Given the description of an element on the screen output the (x, y) to click on. 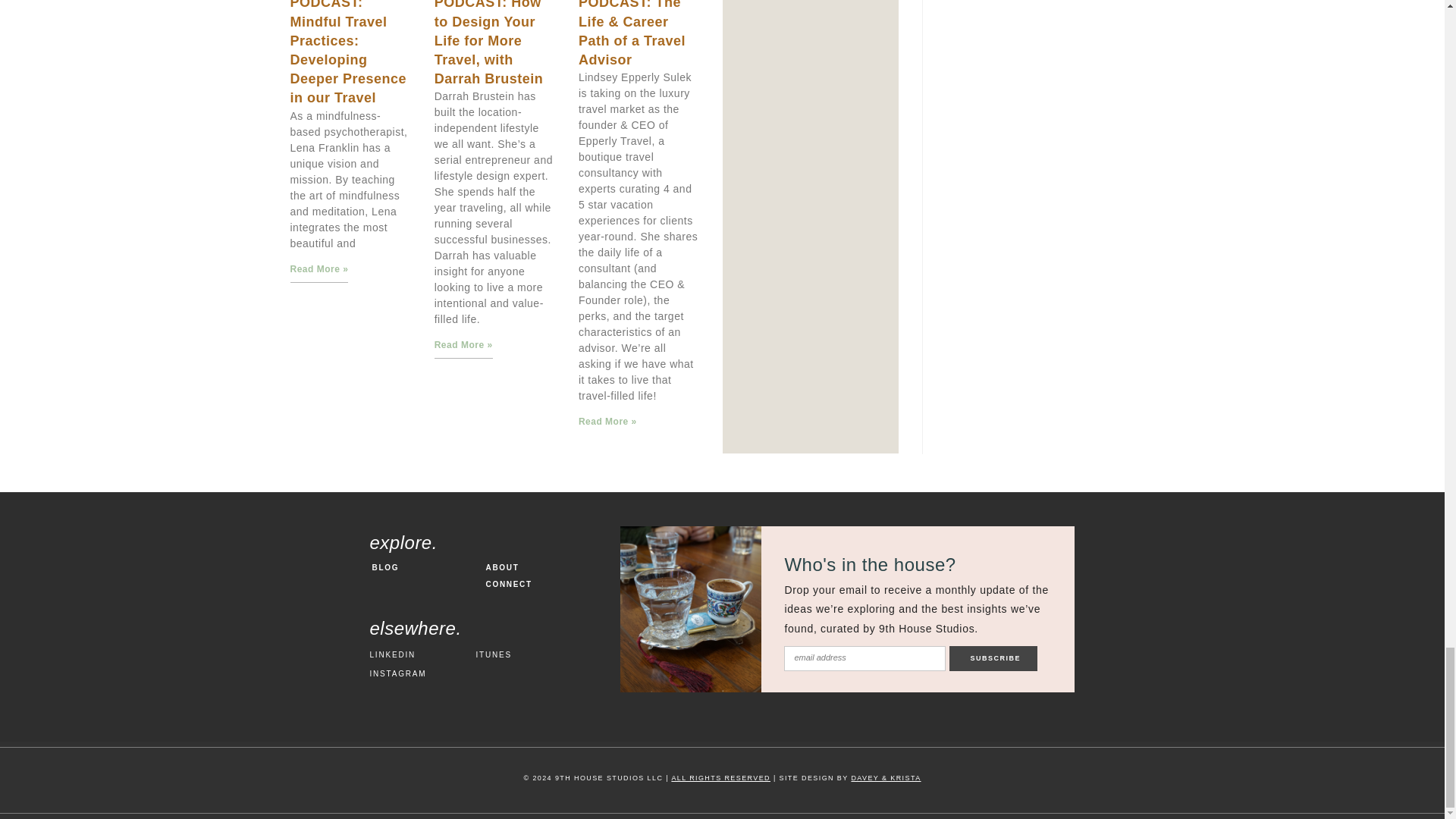
BLOG (426, 567)
ABOUT (543, 567)
CONNECT (543, 584)
